Given the description of an element on the screen output the (x, y) to click on. 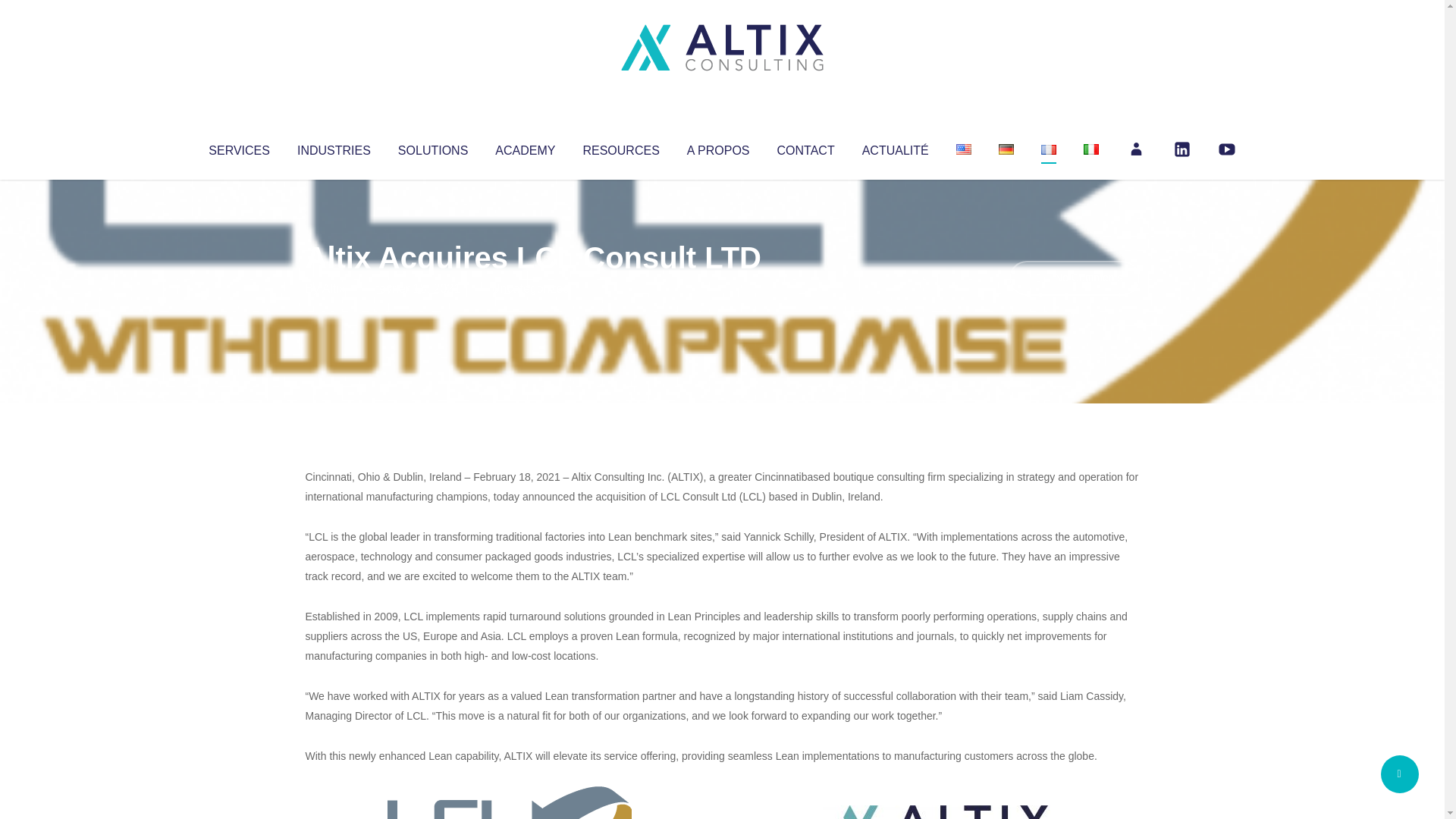
Altix (333, 287)
No Comments (1073, 278)
ACADEMY (524, 146)
Articles par Altix (333, 287)
SOLUTIONS (432, 146)
A PROPOS (718, 146)
INDUSTRIES (334, 146)
Uncategorized (530, 287)
RESOURCES (620, 146)
SERVICES (238, 146)
